Given the description of an element on the screen output the (x, y) to click on. 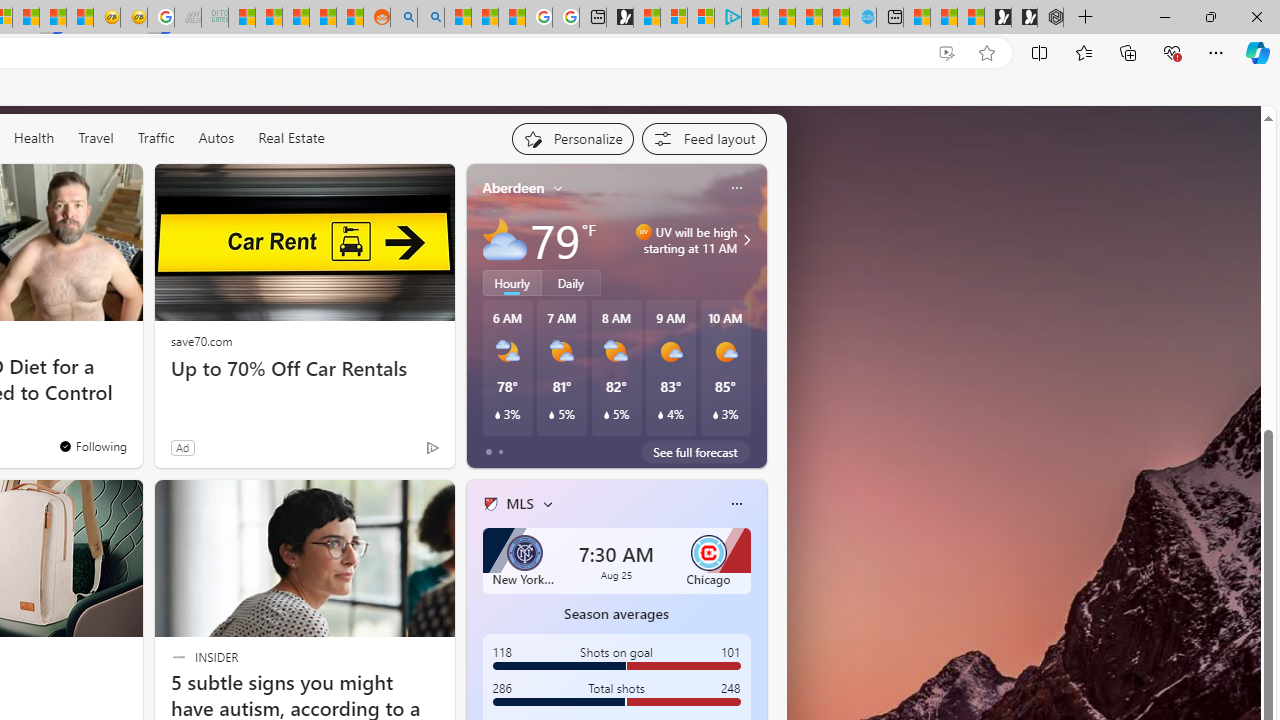
Class: weather-arrow-glyph (746, 240)
Up to 70% Off Car Rentals (304, 368)
MLS (519, 503)
See full forecast (695, 451)
